Given the description of an element on the screen output the (x, y) to click on. 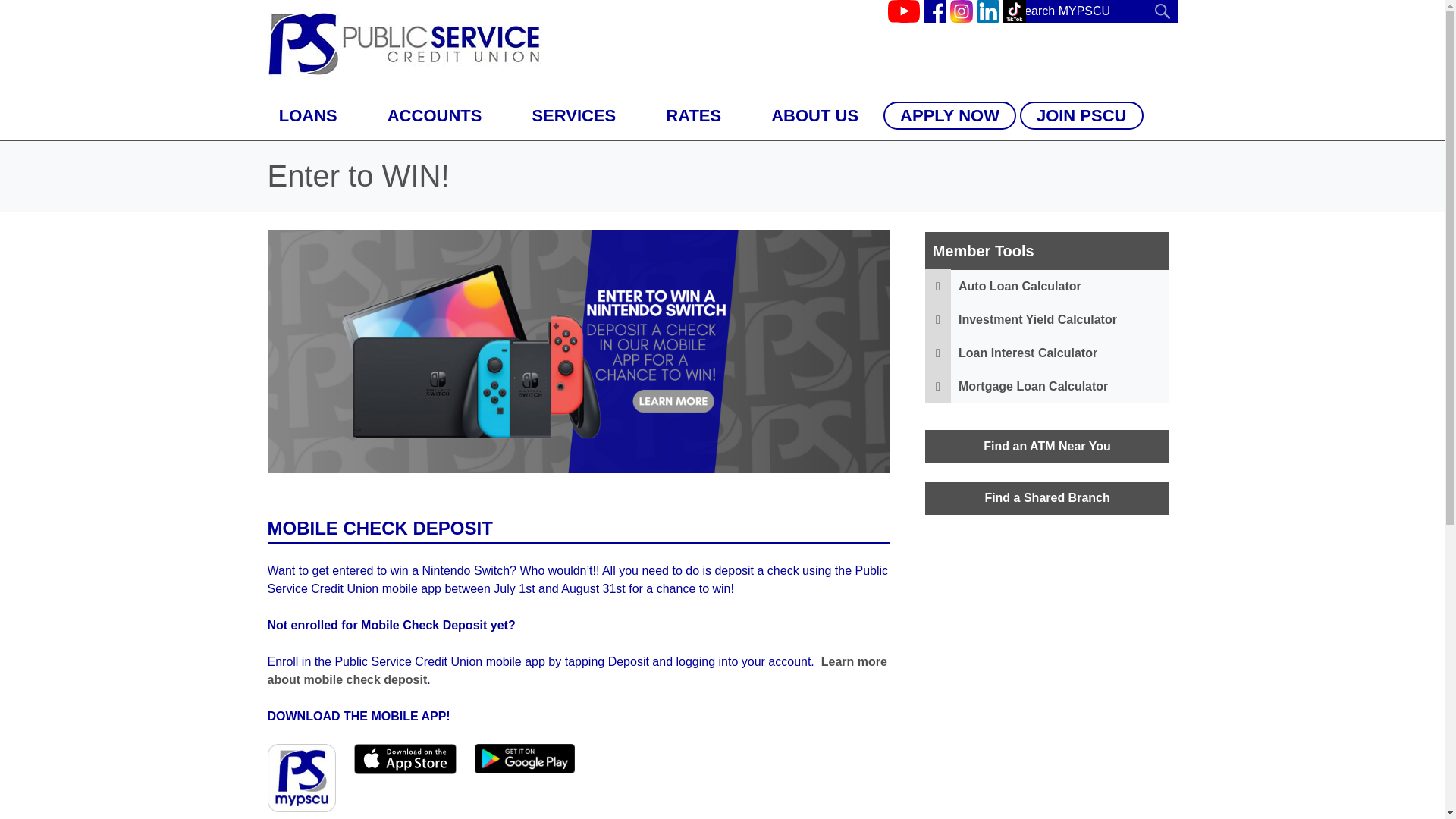
ABOUT US (814, 115)
Search MYPSCU (1101, 11)
Search MYPSCU (1101, 11)
LOANS (307, 115)
MyPSCU Search Box (1101, 11)
SERVICES (573, 115)
RATES (692, 115)
Search (1161, 11)
ACCOUNTS (434, 115)
